Given the description of an element on the screen output the (x, y) to click on. 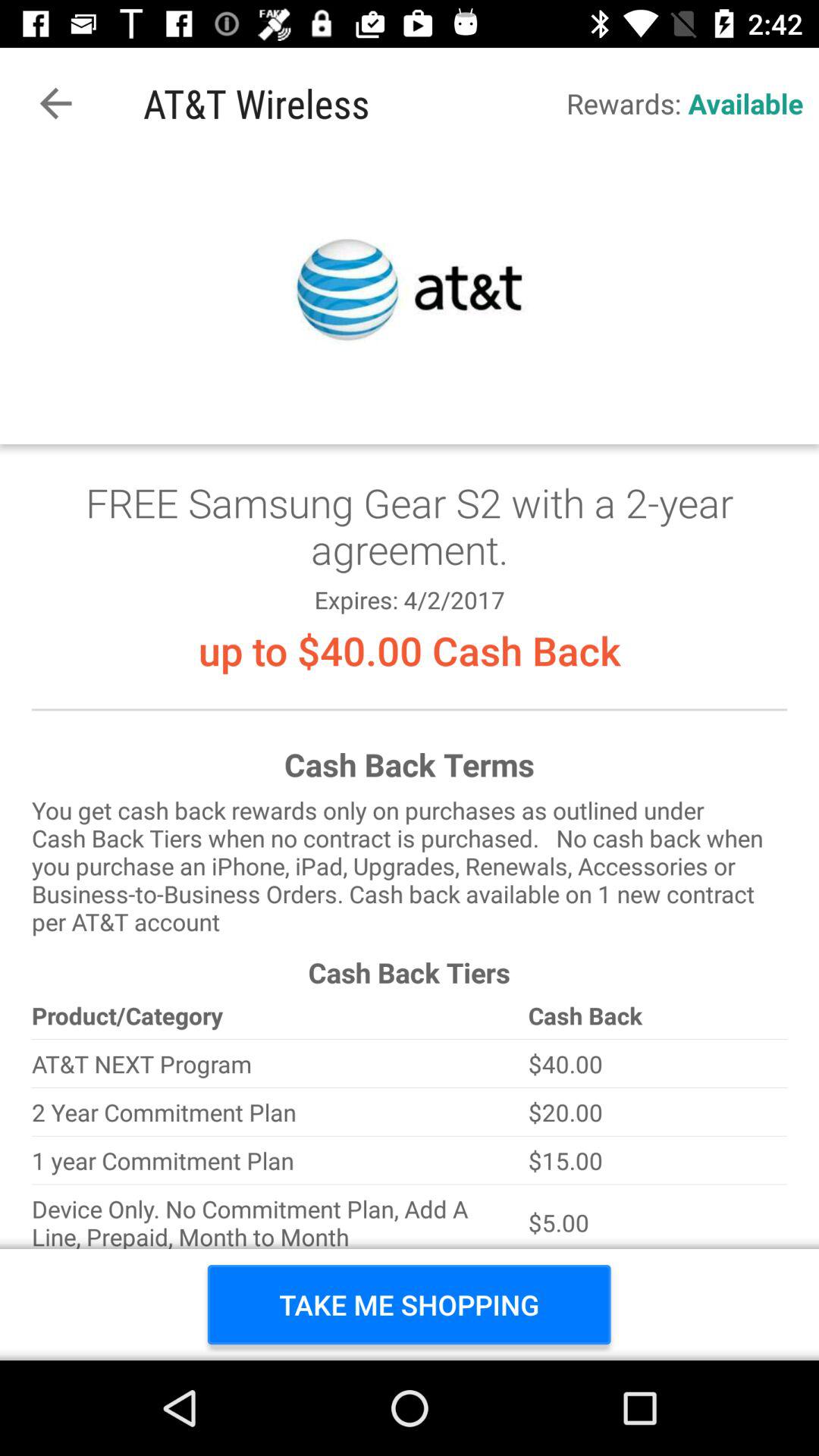
launch the item below device only no icon (408, 1304)
